Given the description of an element on the screen output the (x, y) to click on. 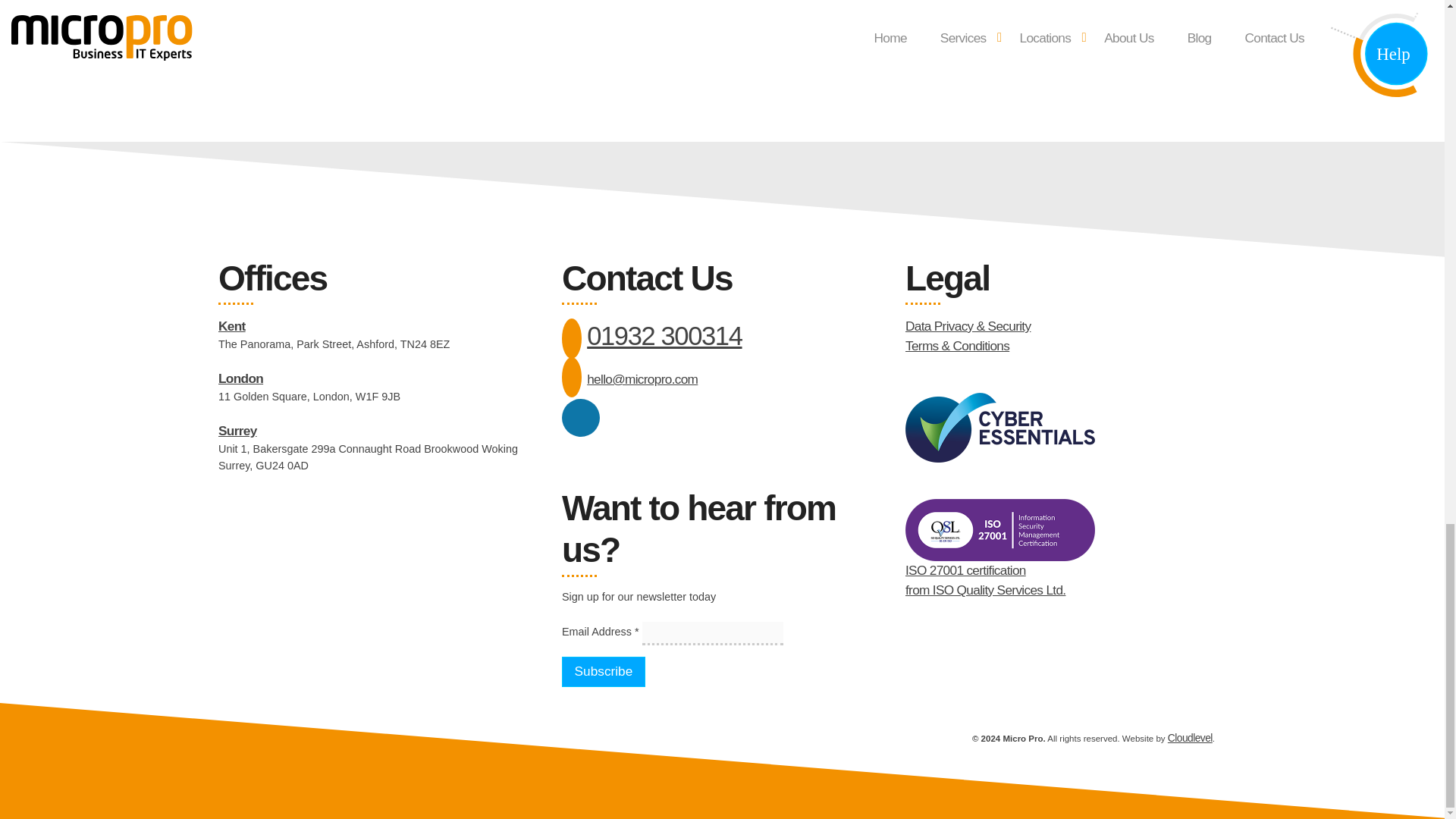
LinkedIn (580, 417)
Subscribe (603, 671)
ISO 27001 certification from ISO Quality Services Ltd. (985, 579)
